Given the description of an element on the screen output the (x, y) to click on. 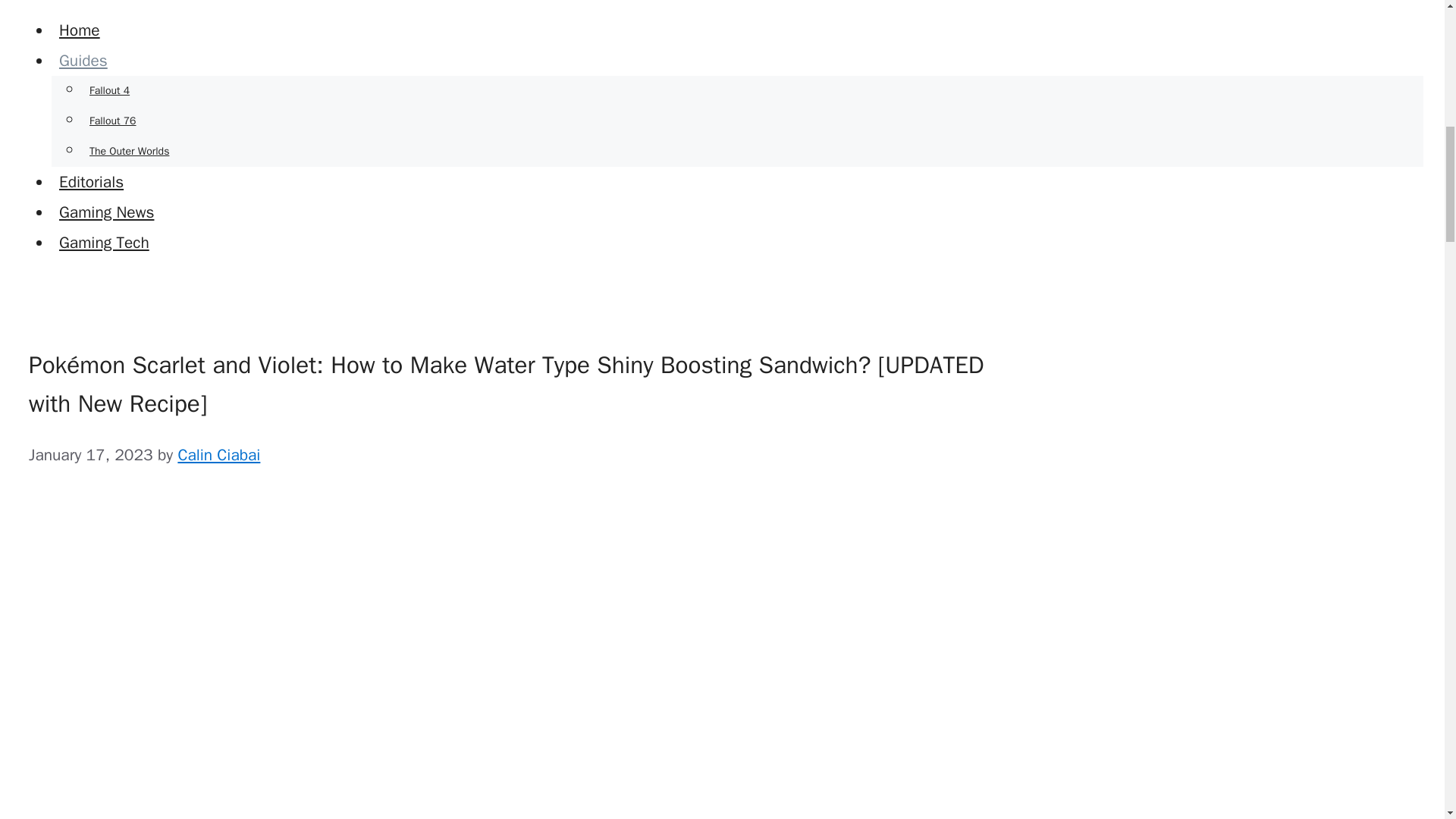
Calin Ciabai (218, 455)
View all posts by Calin Ciabai (218, 455)
Gaming News (105, 211)
Home (78, 30)
Fallout 4 (108, 90)
Fallout 76 (112, 121)
Editorials (90, 181)
The Outer Worlds (128, 151)
Guides (86, 60)
Gaming Tech (103, 242)
